Given the description of an element on the screen output the (x, y) to click on. 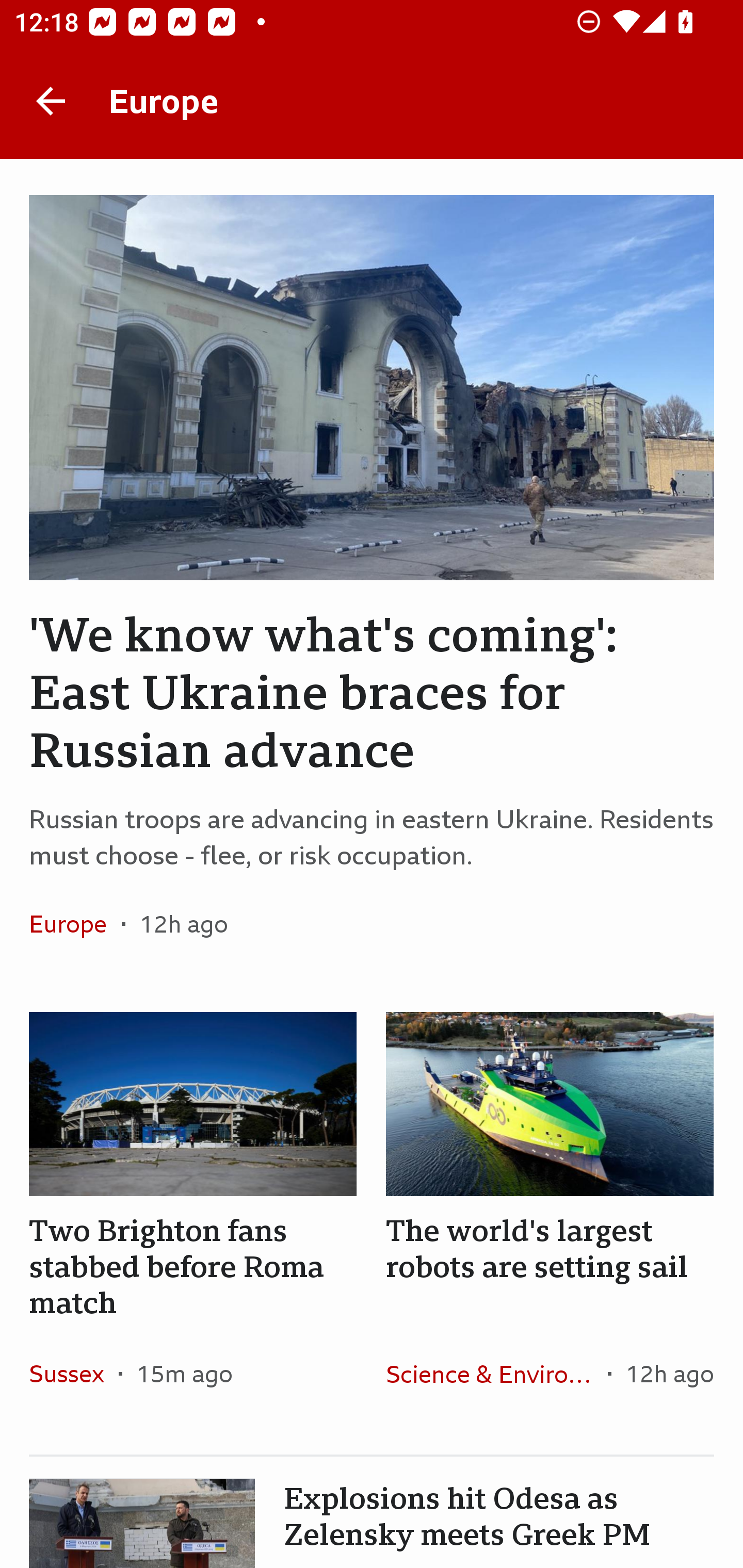
Back (50, 101)
Europe In the section Europe (74, 923)
Sussex In the section Sussex (73, 1373)
